Given the description of an element on the screen output the (x, y) to click on. 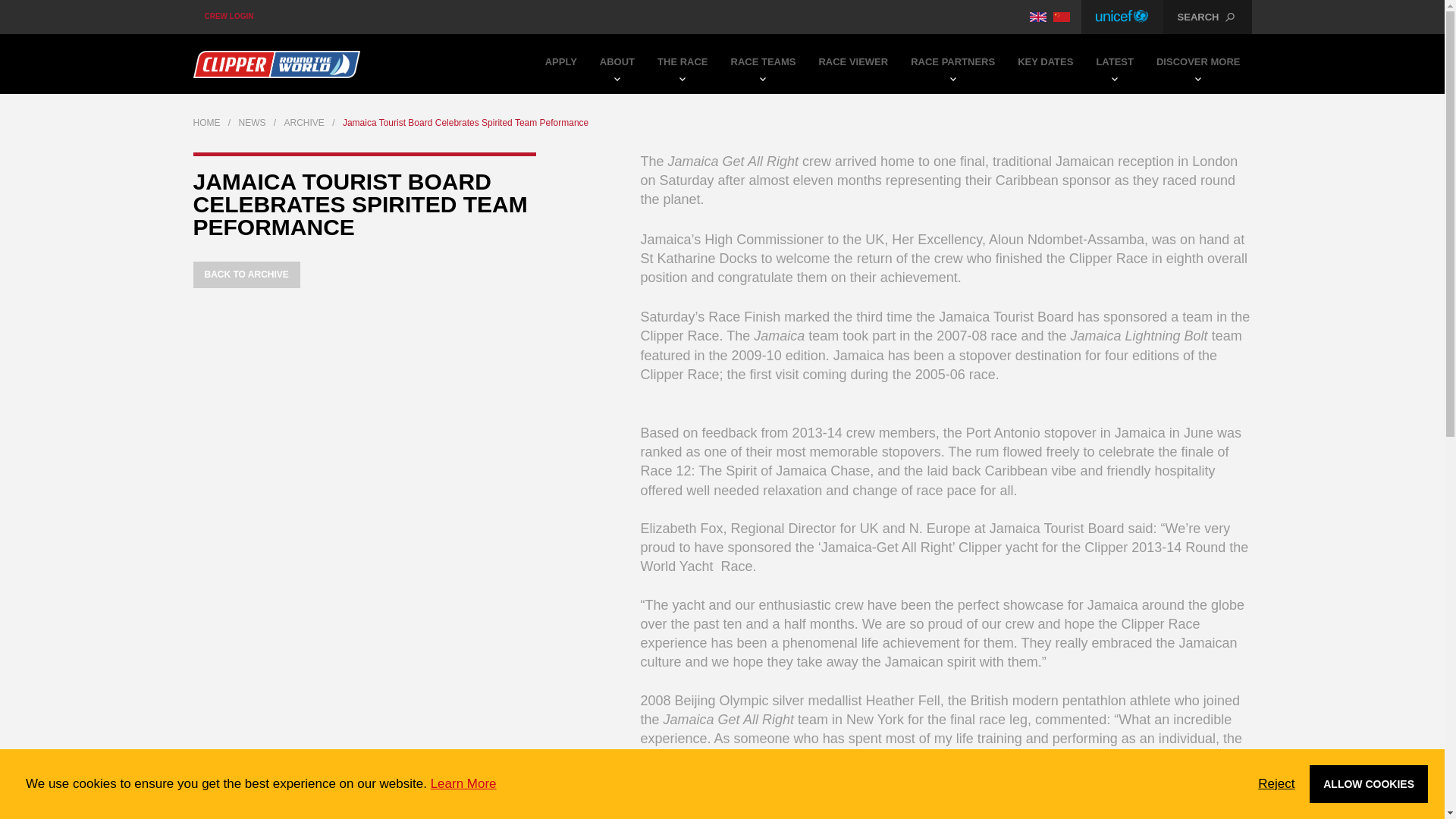
Chinese (1061, 17)
Chinese (1061, 17)
English (1037, 17)
Clipper Round The World (275, 64)
THE RACE (682, 64)
English (1037, 17)
English (1037, 17)
RACE TEAMS (762, 64)
Submit (723, 101)
ABOUT (617, 64)
CREW LOGIN (228, 17)
Clipper - Round The World (275, 64)
Chinese (1061, 17)
Unicef (1122, 17)
APPLY (561, 64)
